Given the description of an element on the screen output the (x, y) to click on. 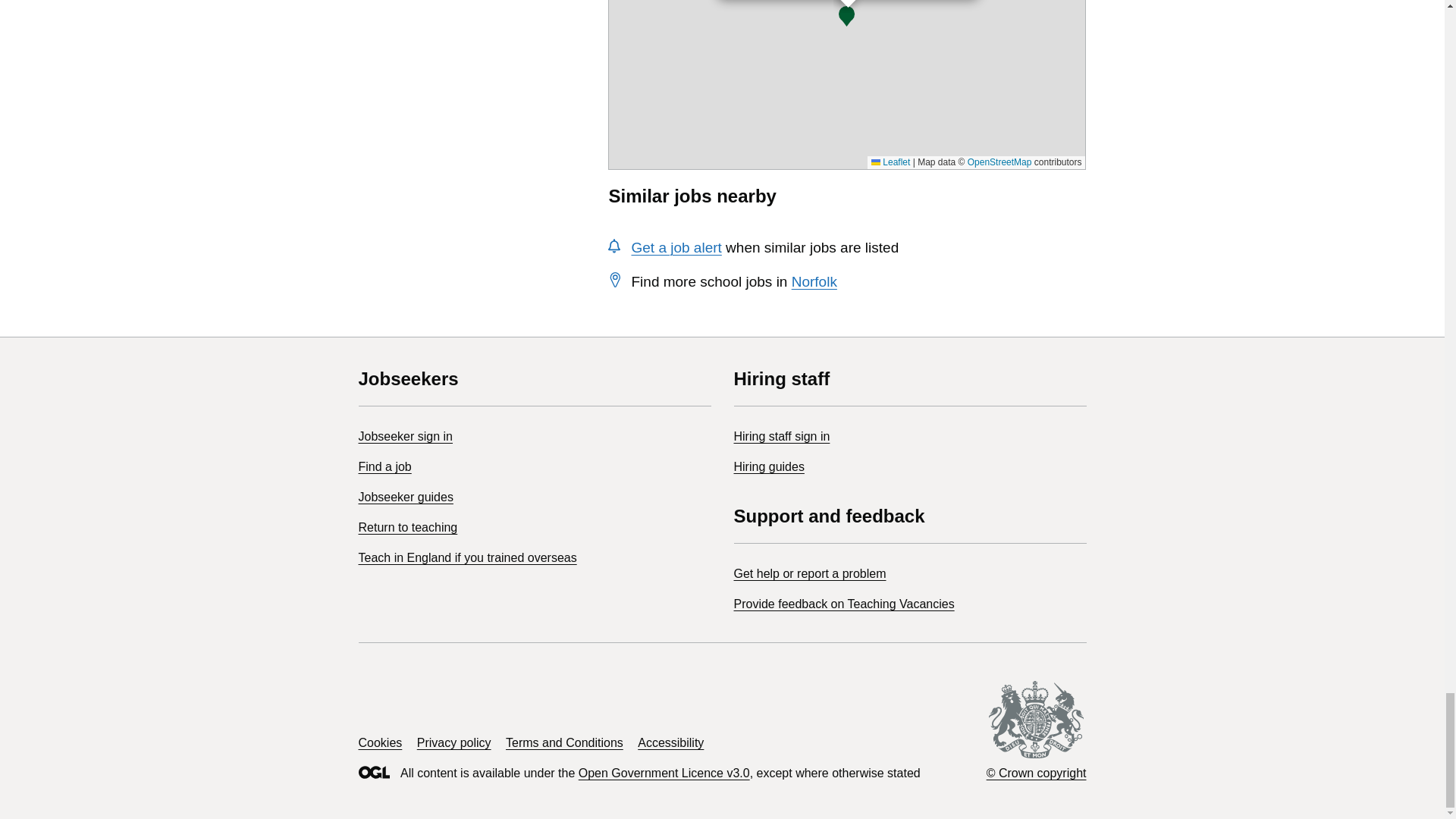
Provide feedback on Teaching Vacancies (844, 603)
Find a job (384, 466)
Get a job alert (675, 247)
Hiring guides (769, 466)
Return to teaching (407, 526)
Hiring staff sign in (781, 436)
Jobseeker guides (405, 496)
Teach in England if you trained overseas (467, 557)
Leaflet (890, 162)
Jobseeker sign in (405, 436)
Get help or report a problem (809, 573)
A JavaScript library for interactive maps (890, 162)
Norfolk (814, 281)
OpenStreetMap (1000, 162)
